Given the description of an element on the screen output the (x, y) to click on. 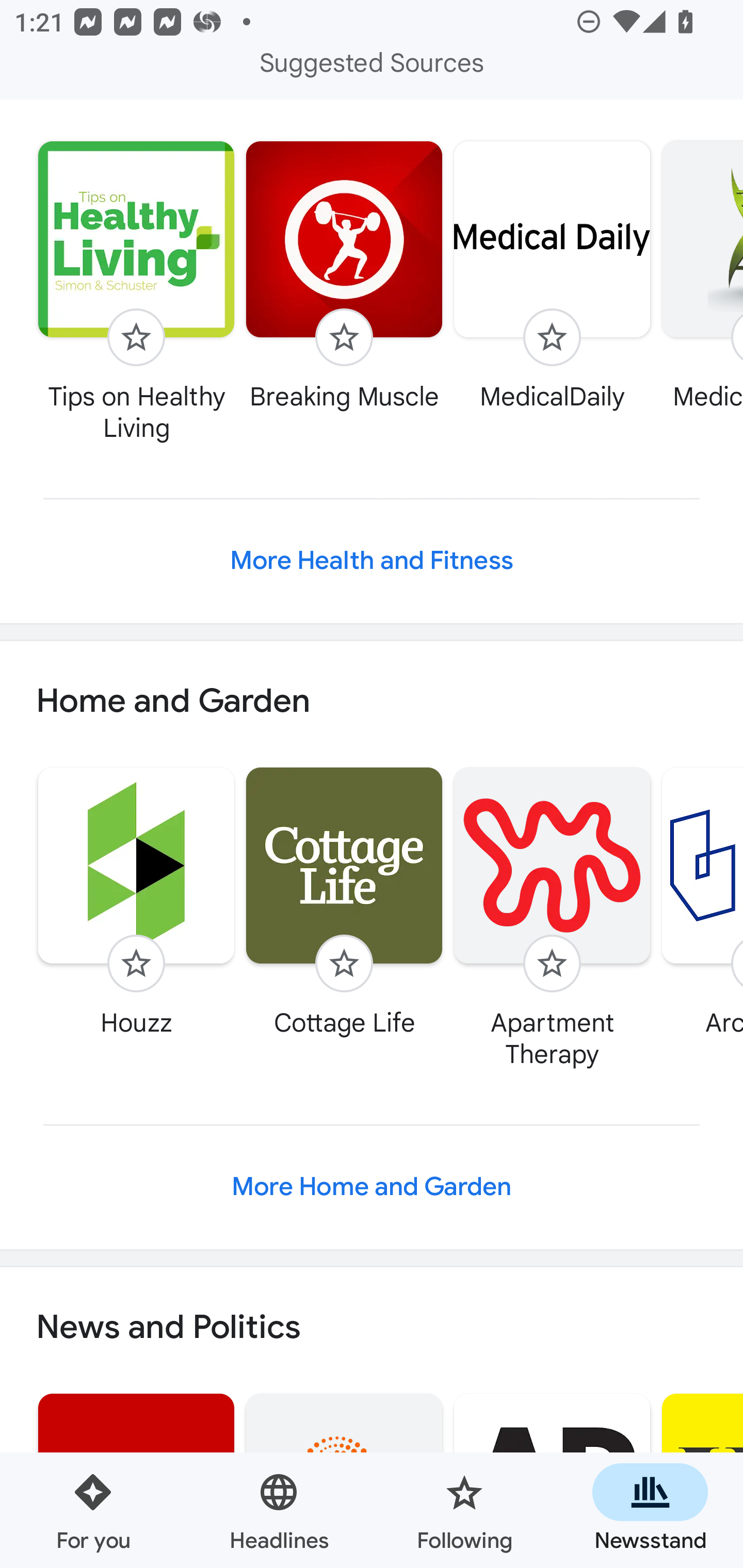
Follow Tips on Healthy Living (136, 291)
Follow Breaking Muscle (344, 275)
Follow MedicalDaily (552, 275)
Follow (135, 337)
Follow (343, 337)
Follow (552, 337)
More Health and Fitness (371, 560)
Home and Garden (371, 701)
Follow Houzz (136, 901)
Follow Cottage Life (344, 901)
Follow Apartment Therapy (552, 917)
Follow (135, 963)
Follow (343, 963)
Follow (552, 963)
More Home and Garden (371, 1186)
News and Politics (371, 1326)
For you (92, 1509)
Headlines (278, 1509)
Following (464, 1509)
Newsstand (650, 1509)
